Given the description of an element on the screen output the (x, y) to click on. 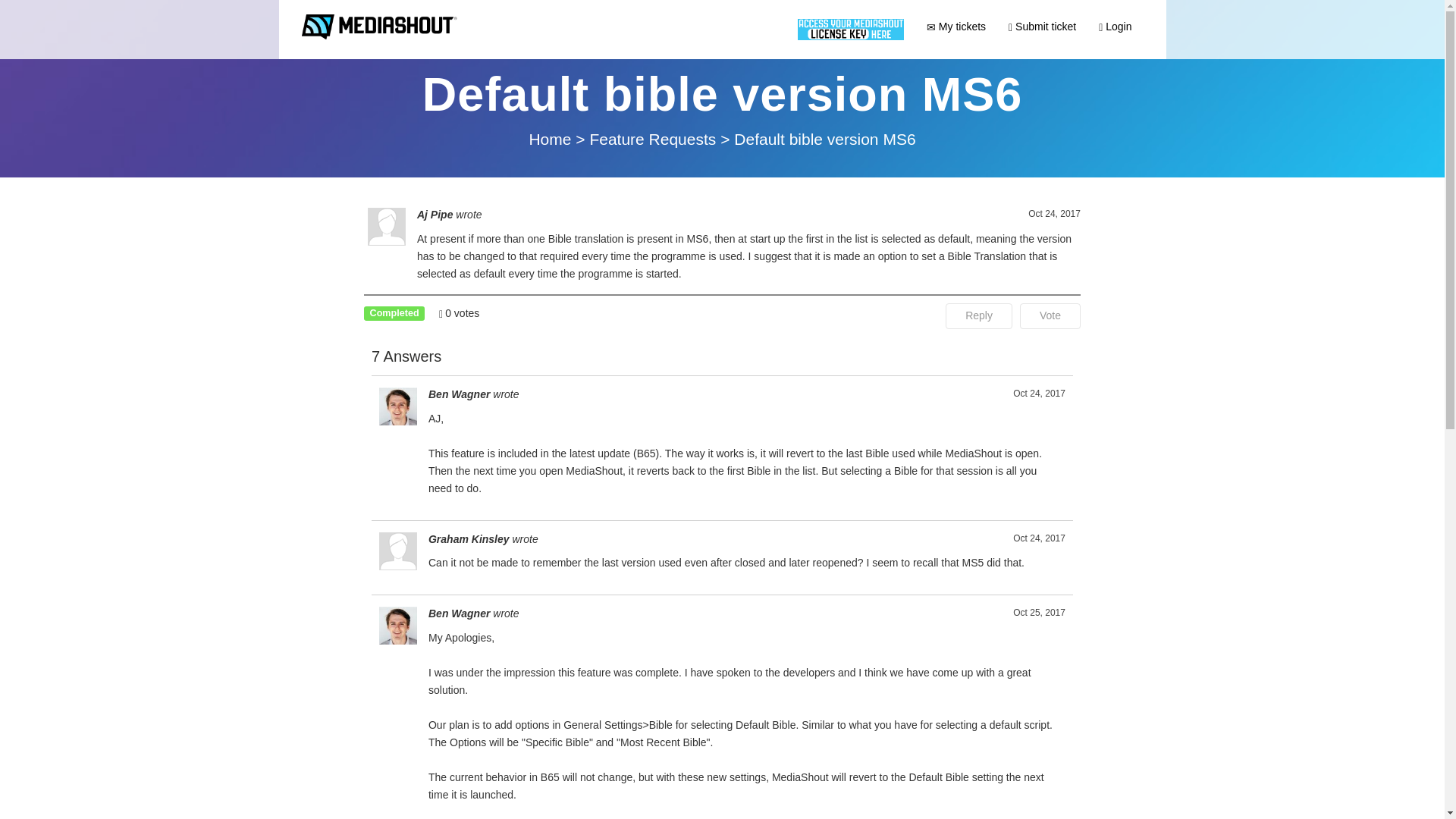
Submit ticket (1042, 26)
Reply (977, 316)
My tickets (956, 26)
Login (1114, 26)
Avatar image (397, 625)
Home (551, 139)
Vote (1050, 316)
Avatar image (397, 406)
Oct 24, 2017, 03:20 PM (1039, 393)
Oct 24, 2017, 04:58 PM (1039, 538)
